Given the description of an element on the screen output the (x, y) to click on. 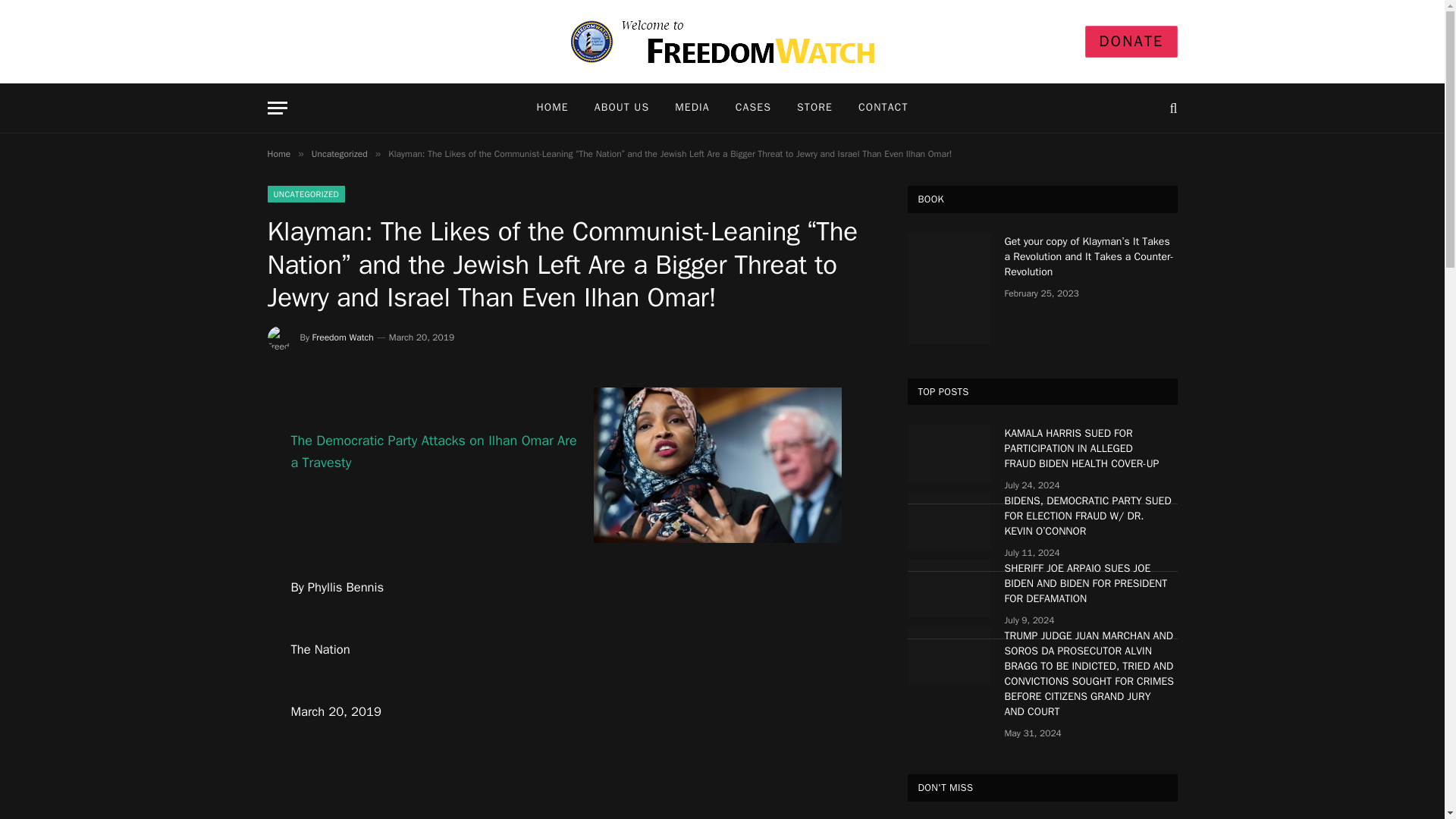
Freedom Watch (343, 337)
Uncategorized (339, 153)
CONTACT (882, 107)
MEDIA (692, 107)
DONATE (1130, 41)
UNCATEGORIZED (305, 193)
The Democratic Party Attacks on Ilhan Omar Are a Travesty (433, 451)
Freedom Watch (721, 41)
Home (277, 153)
ABOUT US (621, 107)
HOME (551, 107)
Posts by Freedom Watch (343, 337)
STORE (814, 107)
CASES (753, 107)
